Given the description of an element on the screen output the (x, y) to click on. 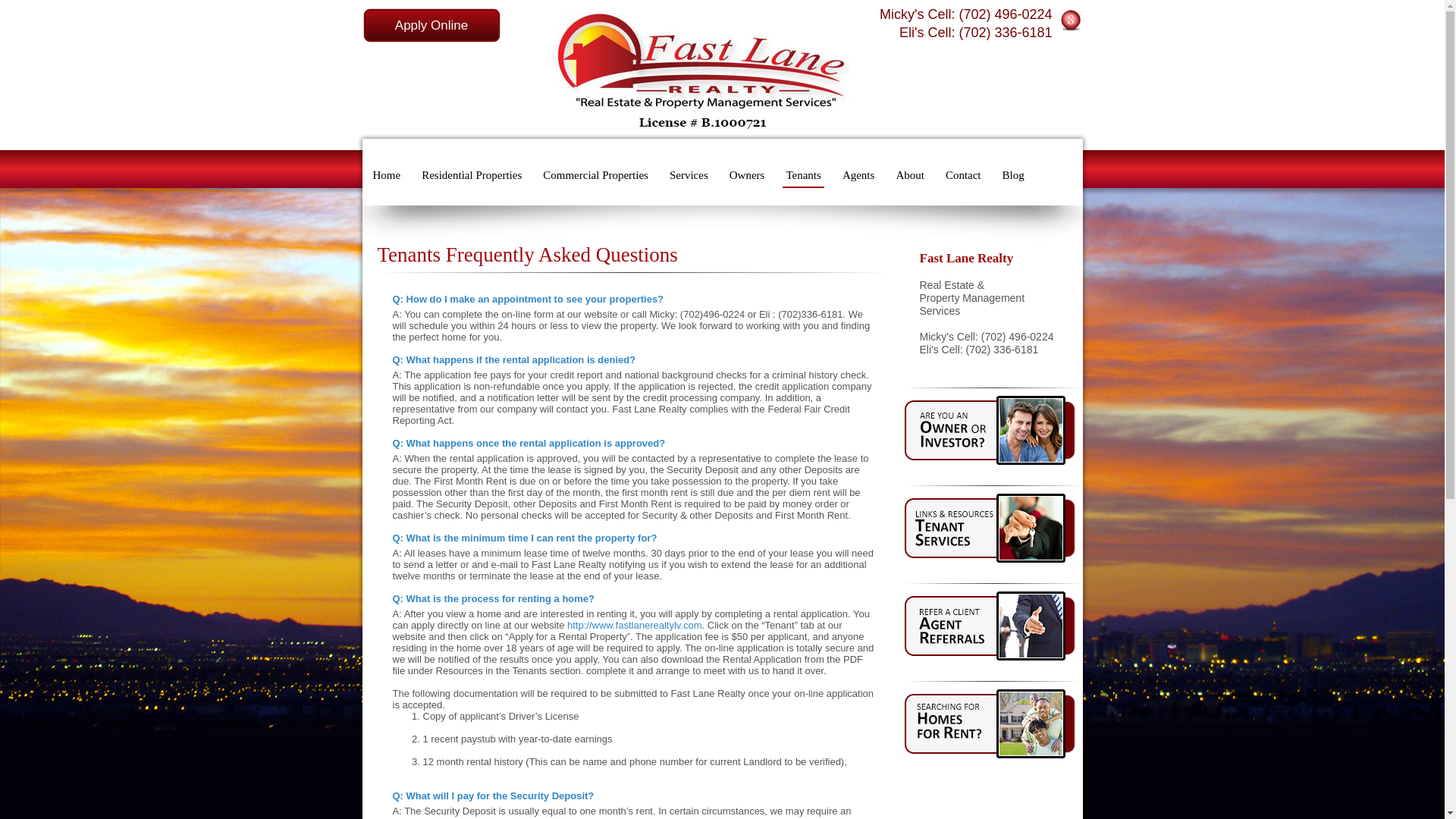
Home (386, 174)
Services (688, 174)
Apply Online (431, 25)
Residential Properties (471, 174)
Tenants (803, 174)
Owners (747, 174)
About (909, 174)
Agents (859, 174)
Contact (962, 174)
Commercial Properties (595, 174)
